Given the description of an element on the screen output the (x, y) to click on. 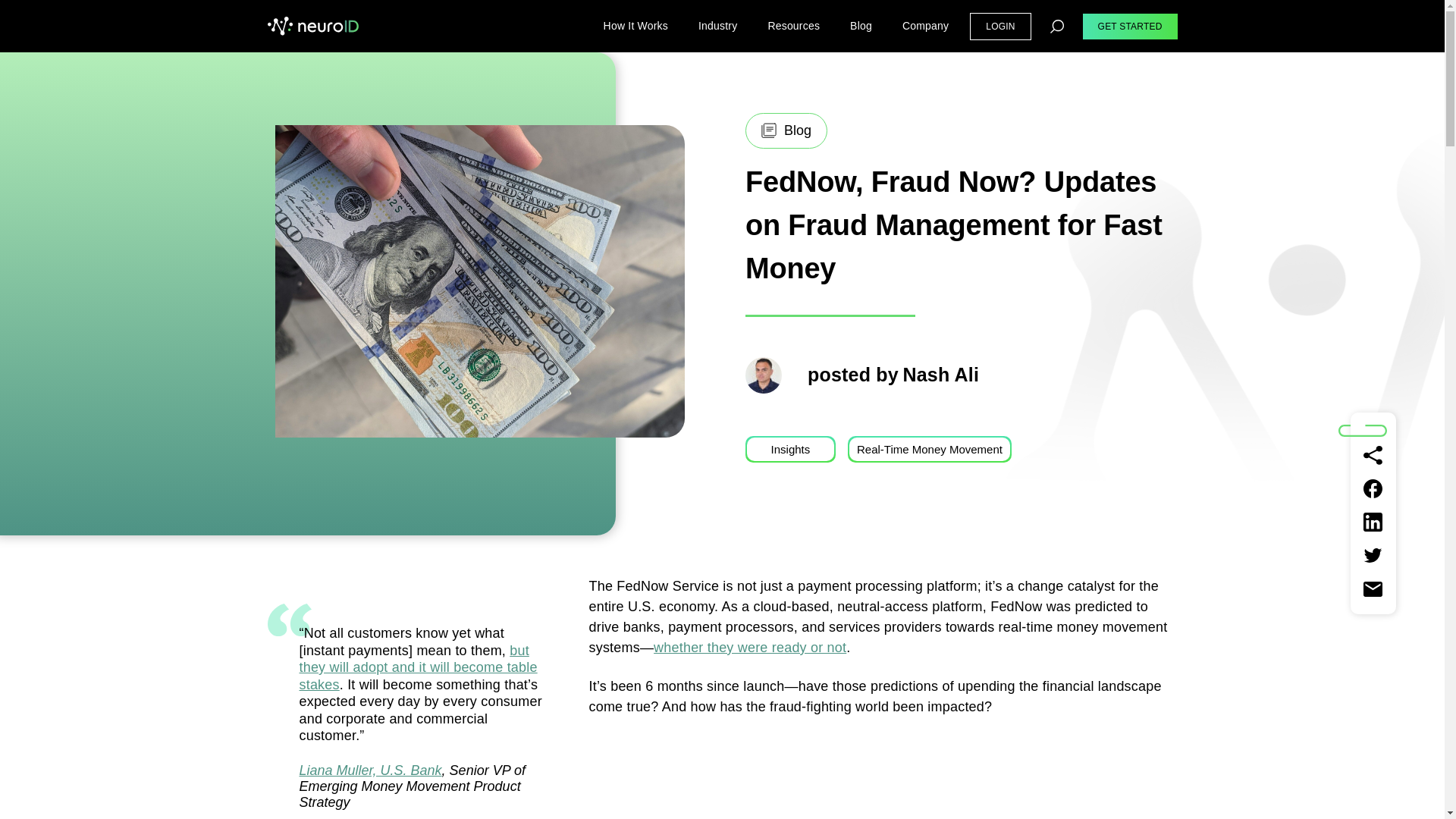
Search (1056, 26)
Insights (790, 448)
Twitter (1373, 555)
GET STARTED (1130, 26)
Email (1373, 588)
Company (925, 26)
Industry (716, 26)
How It Works (635, 26)
Facebook (1373, 488)
Linkedin (1373, 522)
Blog (860, 26)
Real-Time Money Movement (929, 448)
More (1373, 455)
LOGIN (999, 25)
Resources (793, 26)
